Given the description of an element on the screen output the (x, y) to click on. 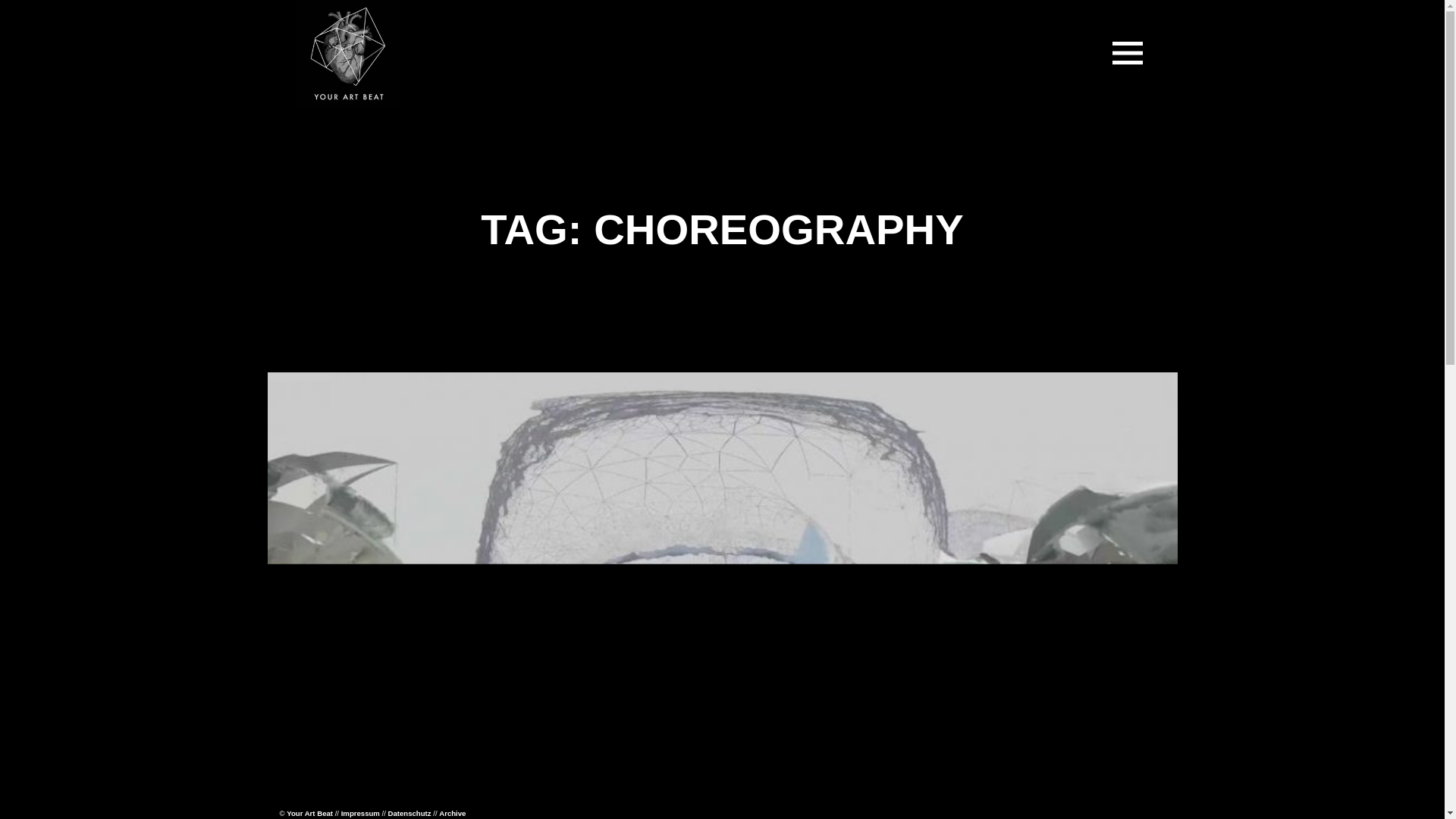
Menu and widgets (1126, 52)
Your Art Beat (309, 813)
Datenschutz (409, 813)
Archive (452, 813)
Your Art Beat (358, 129)
Impressum (360, 813)
